Given the description of an element on the screen output the (x, y) to click on. 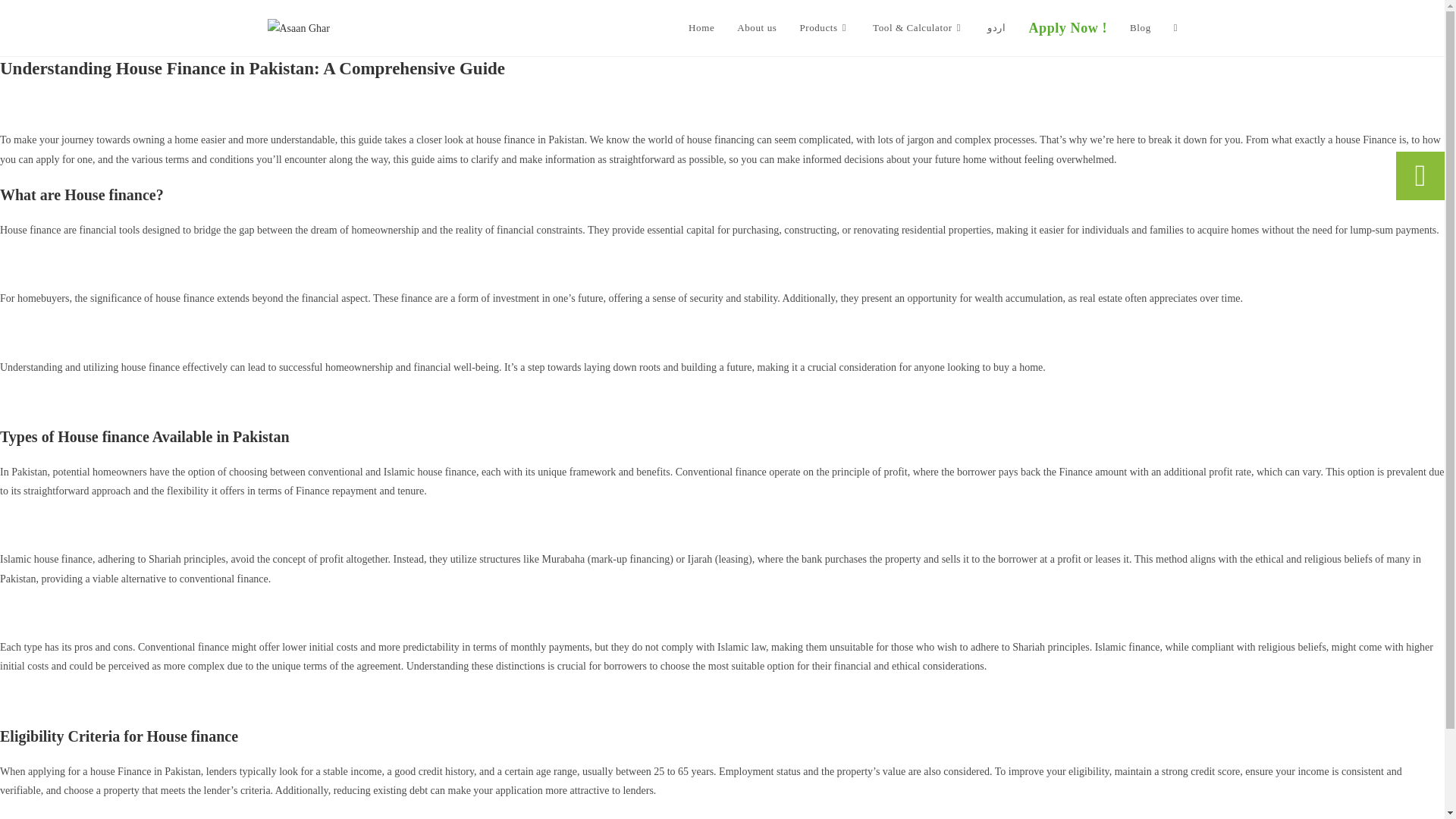
Home (701, 28)
Blog (1139, 28)
Products (824, 28)
About us (756, 28)
Apply Now ! (1067, 28)
Toggle website search (1175, 28)
